Given the description of an element on the screen output the (x, y) to click on. 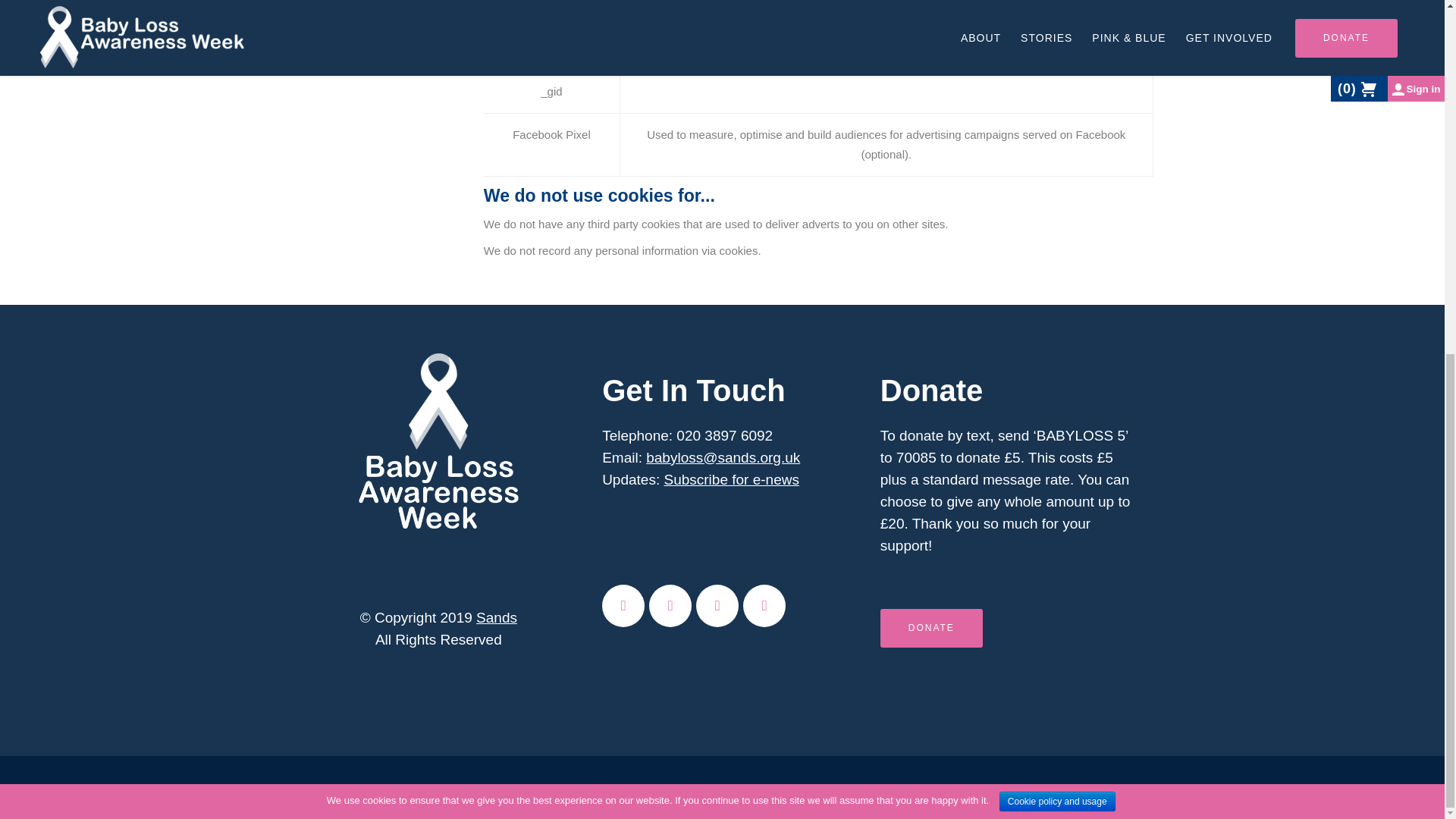
Subscribe for e-news (730, 479)
Sands (496, 617)
